Given the description of an element on the screen output the (x, y) to click on. 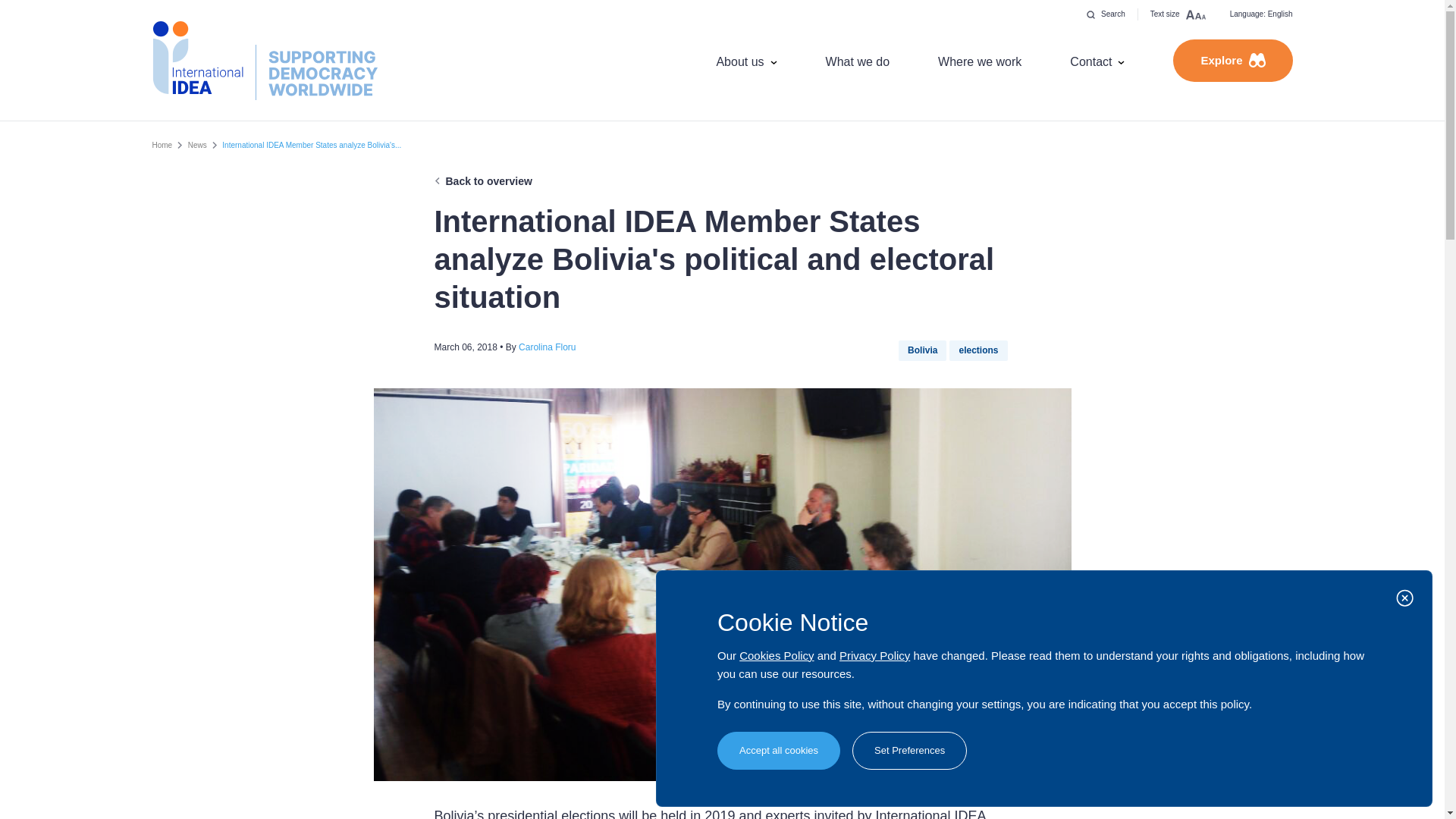
Contact (1097, 60)
Where we work (979, 61)
Search (1106, 14)
About us (746, 60)
What we do (857, 61)
Language: English (1260, 14)
Text size (1177, 14)
